Given the description of an element on the screen output the (x, y) to click on. 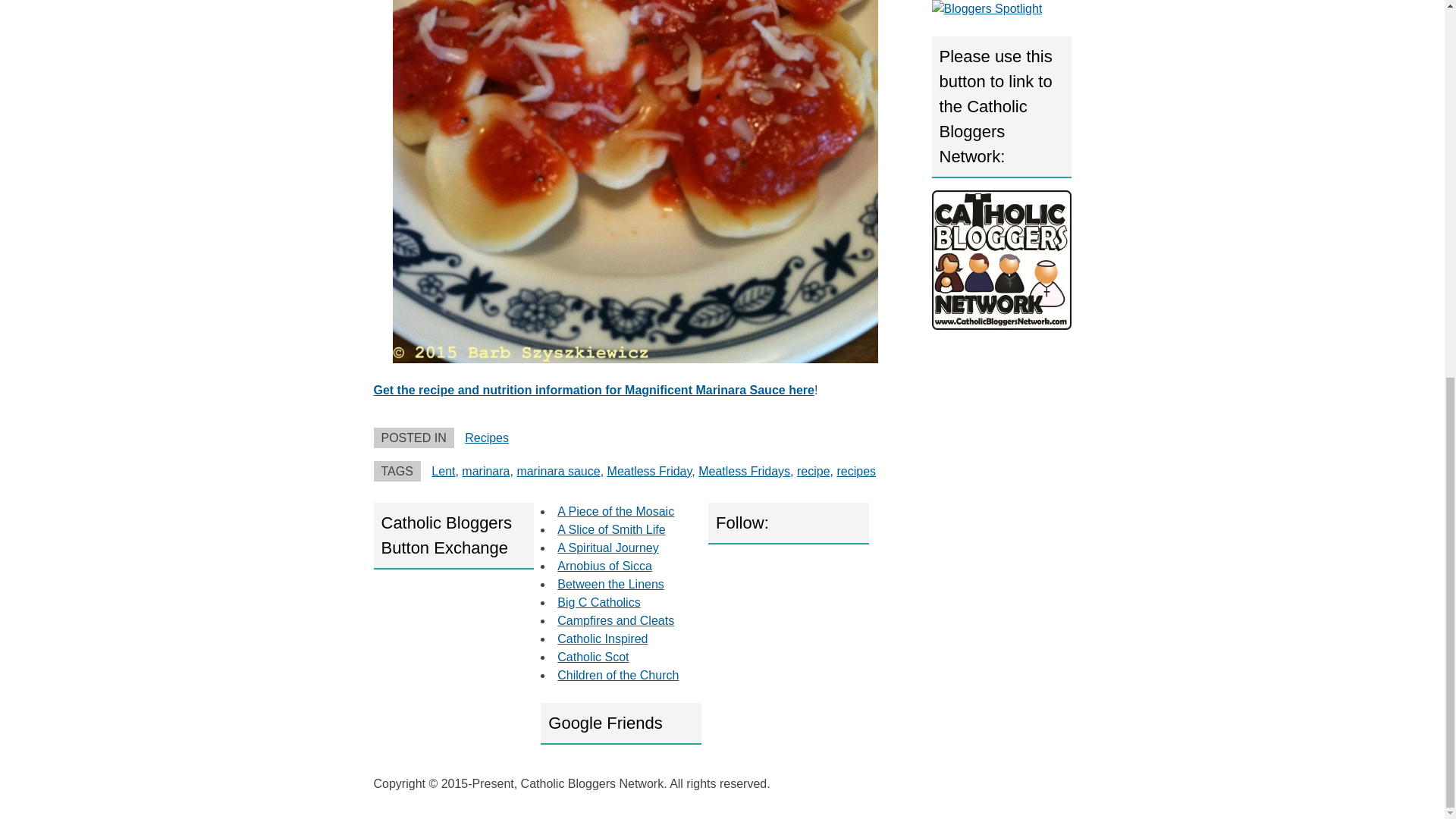
Lent (442, 471)
recipe (812, 471)
Meatless Fridays (744, 471)
marinara sauce (557, 471)
Recipes (486, 437)
recipes (855, 471)
Meatless Friday (650, 471)
Bloggers Spotlight (986, 9)
marinara (485, 471)
